Given the description of an element on the screen output the (x, y) to click on. 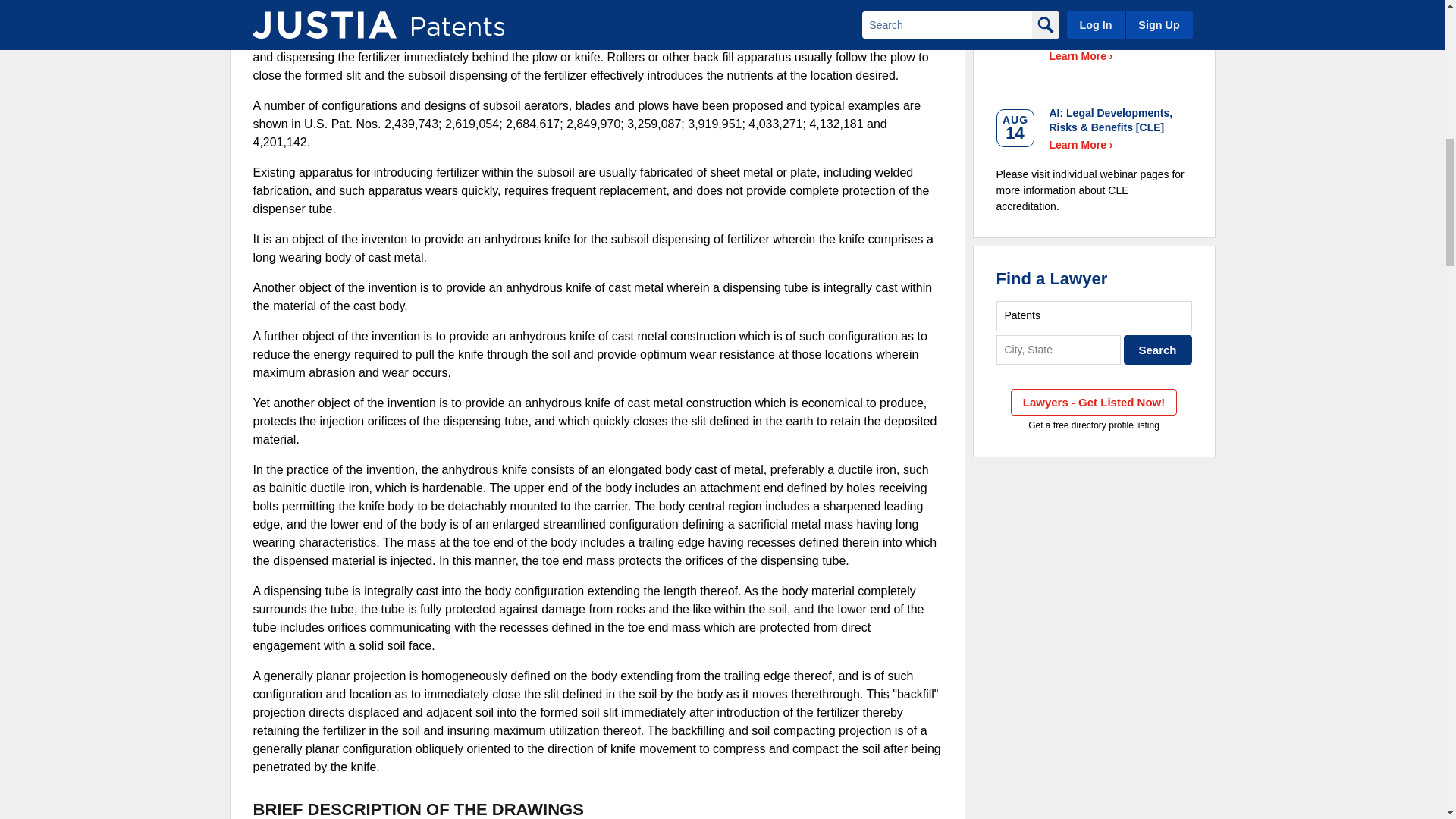
Search (1158, 349)
Search (1158, 349)
Legal Issue or Lawyer Name (1093, 315)
Patents (1093, 315)
City, State (1058, 349)
